Given the description of an element on the screen output the (x, y) to click on. 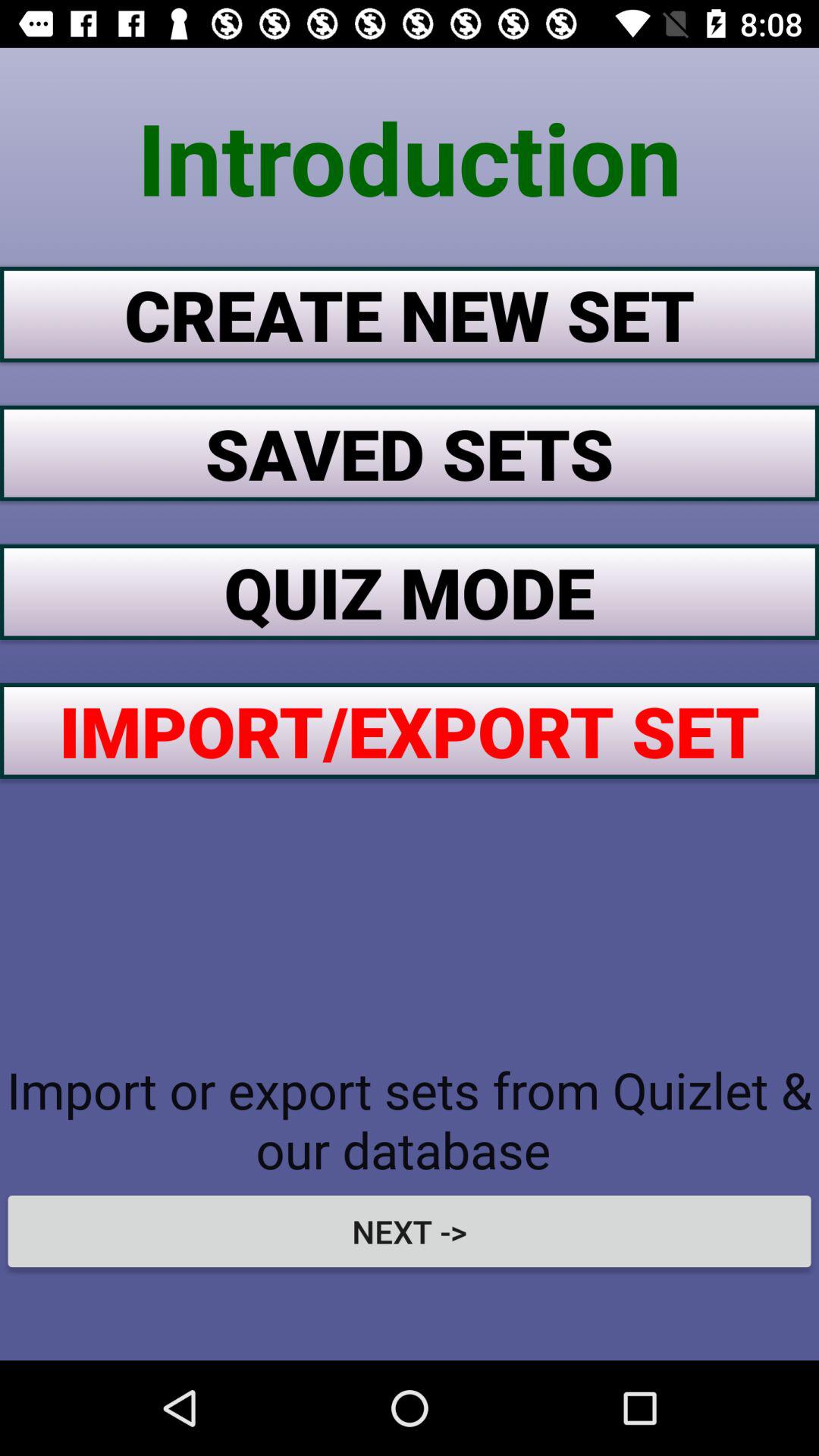
choose button above the import/export set button (409, 591)
